Given the description of an element on the screen output the (x, y) to click on. 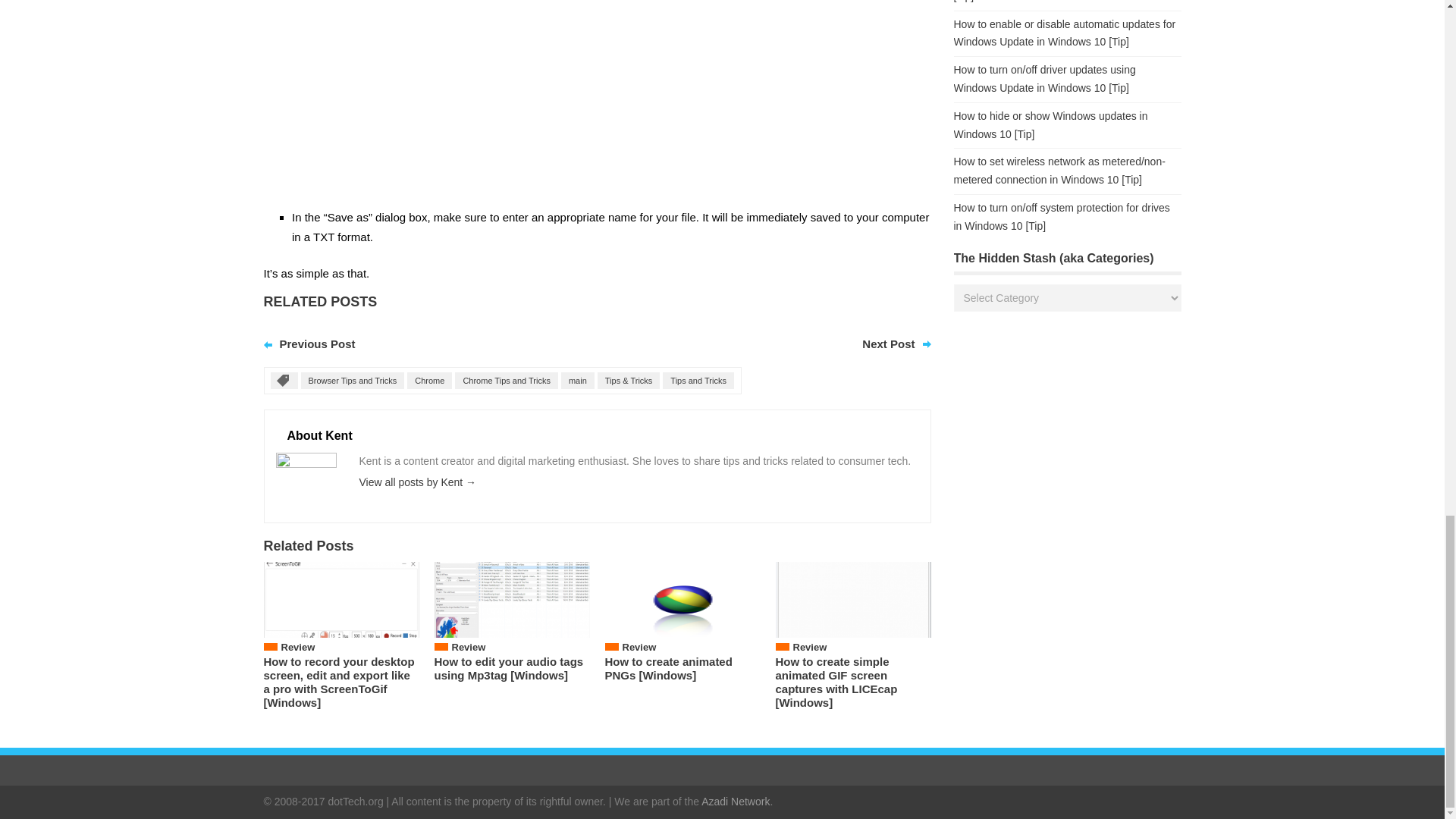
Previous Post (317, 343)
Review (810, 646)
Review (468, 646)
Next Post (887, 343)
Chrome Tips and Tricks (505, 380)
Review (638, 646)
Review (297, 646)
Tips and Tricks (697, 380)
Browser Tips and Tricks (351, 380)
Chrome (429, 380)
main (577, 380)
